Given the description of an element on the screen output the (x, y) to click on. 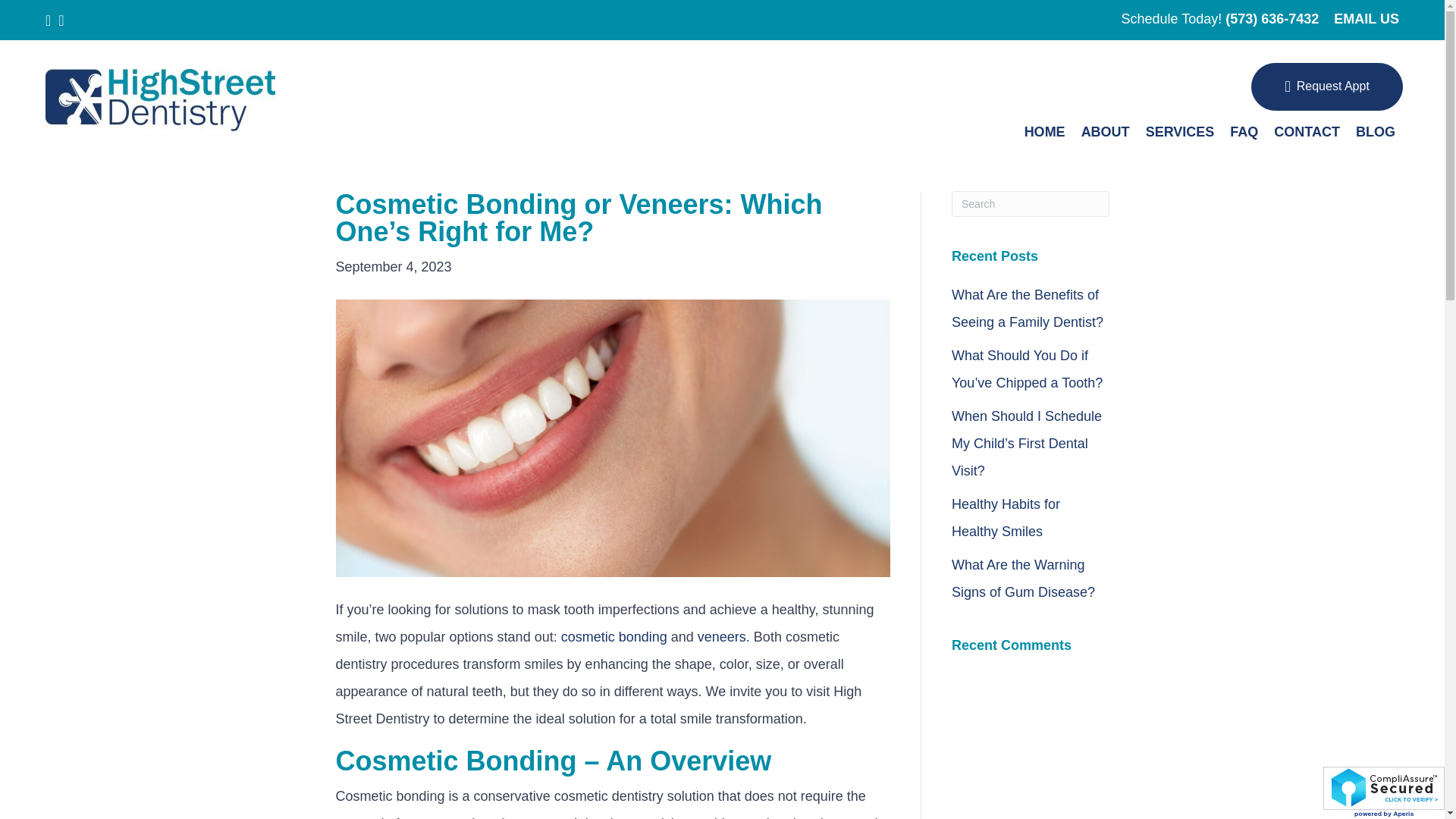
Type and press Enter to search. (1030, 203)
HOME (1044, 131)
Request Appt (1326, 86)
EMAIL US (1366, 18)
ABOUT (1105, 131)
SERVICES (1180, 131)
